Given the description of an element on the screen output the (x, y) to click on. 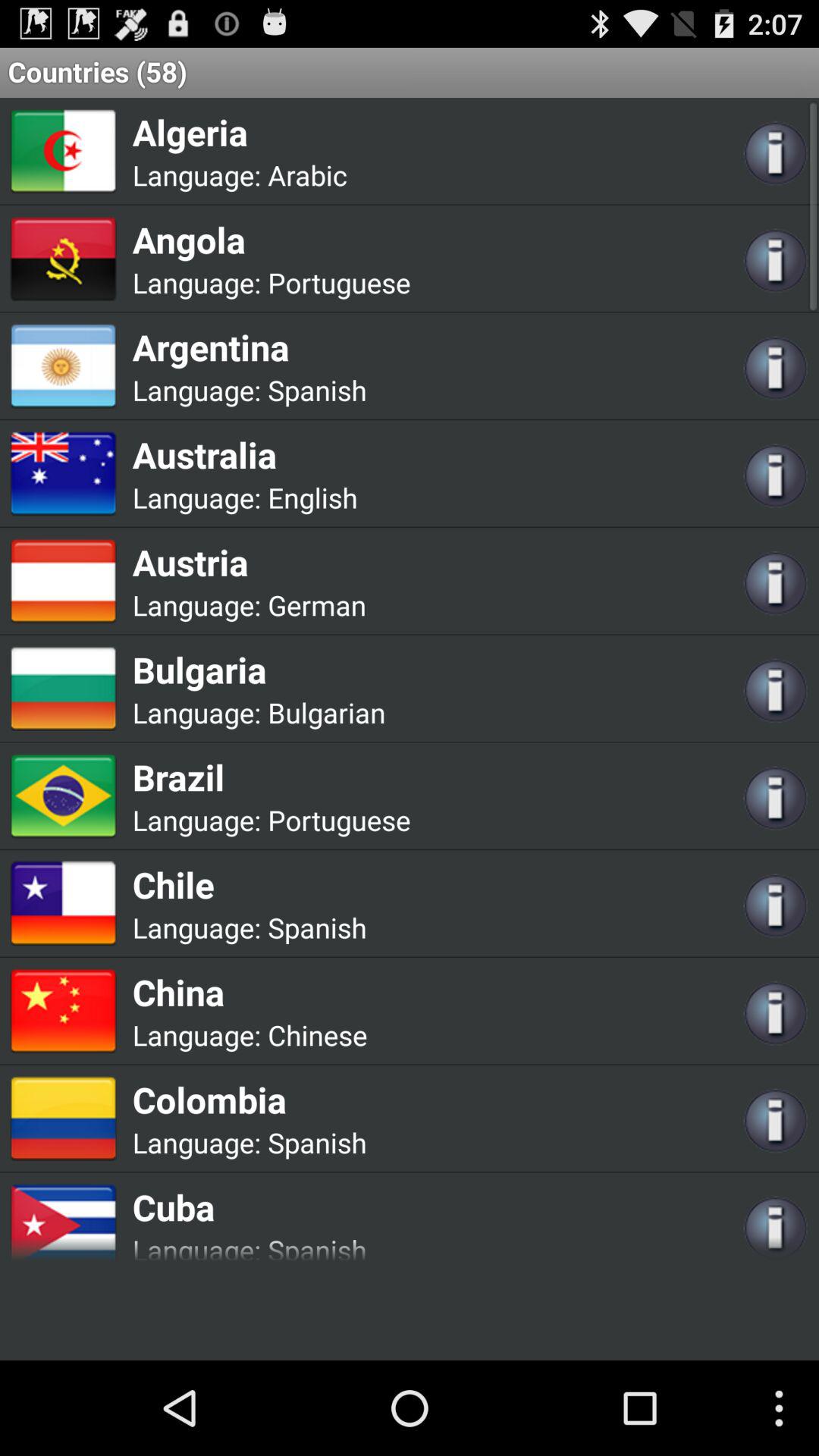
open the icon above the language:  icon (271, 777)
